Given the description of an element on the screen output the (x, y) to click on. 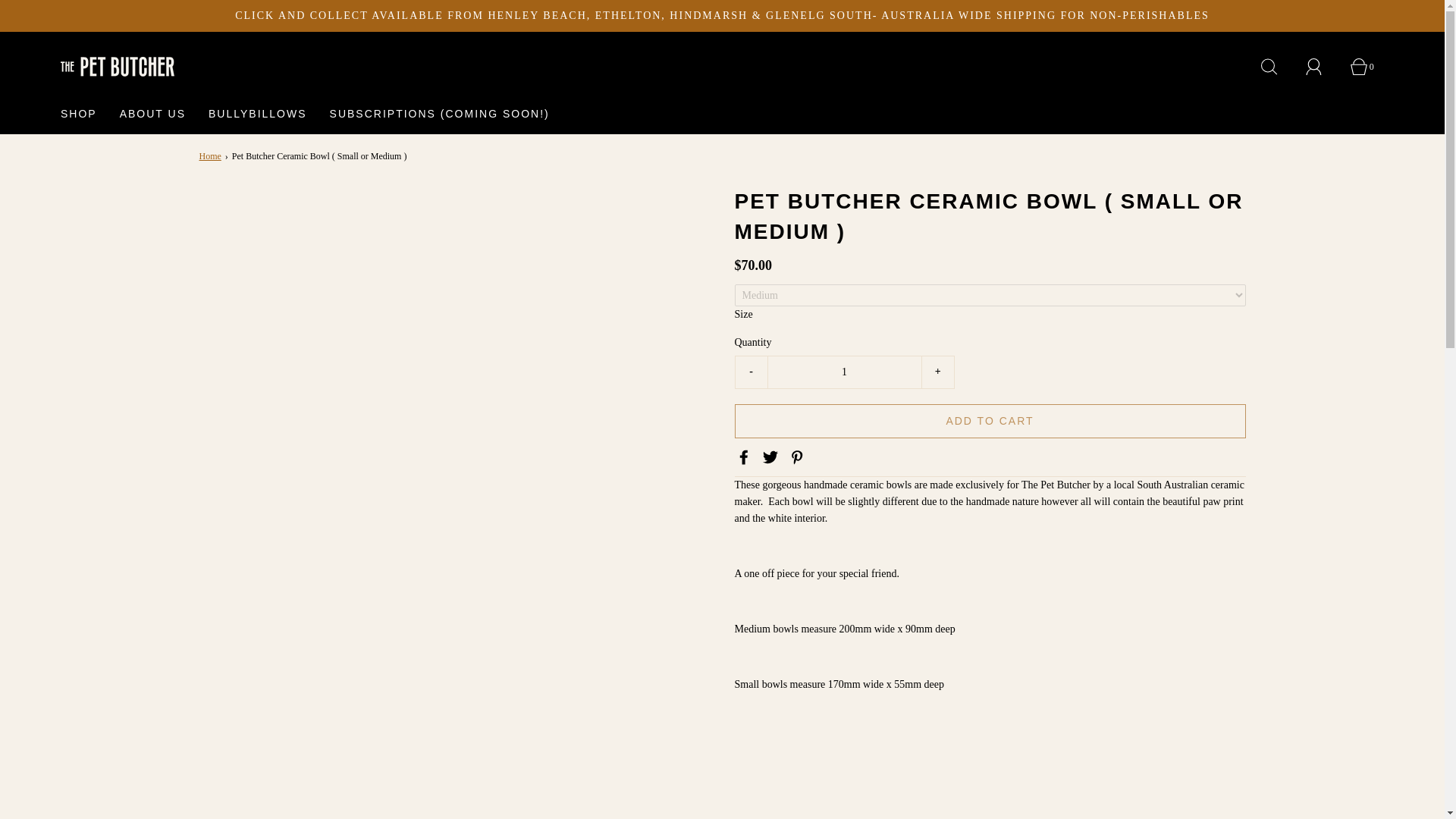
Log in (1322, 66)
Back to the frontpage (211, 156)
Search (1277, 66)
0 (1367, 66)
Cart (1367, 66)
1 (843, 372)
SHOP (79, 113)
